Given the description of an element on the screen output the (x, y) to click on. 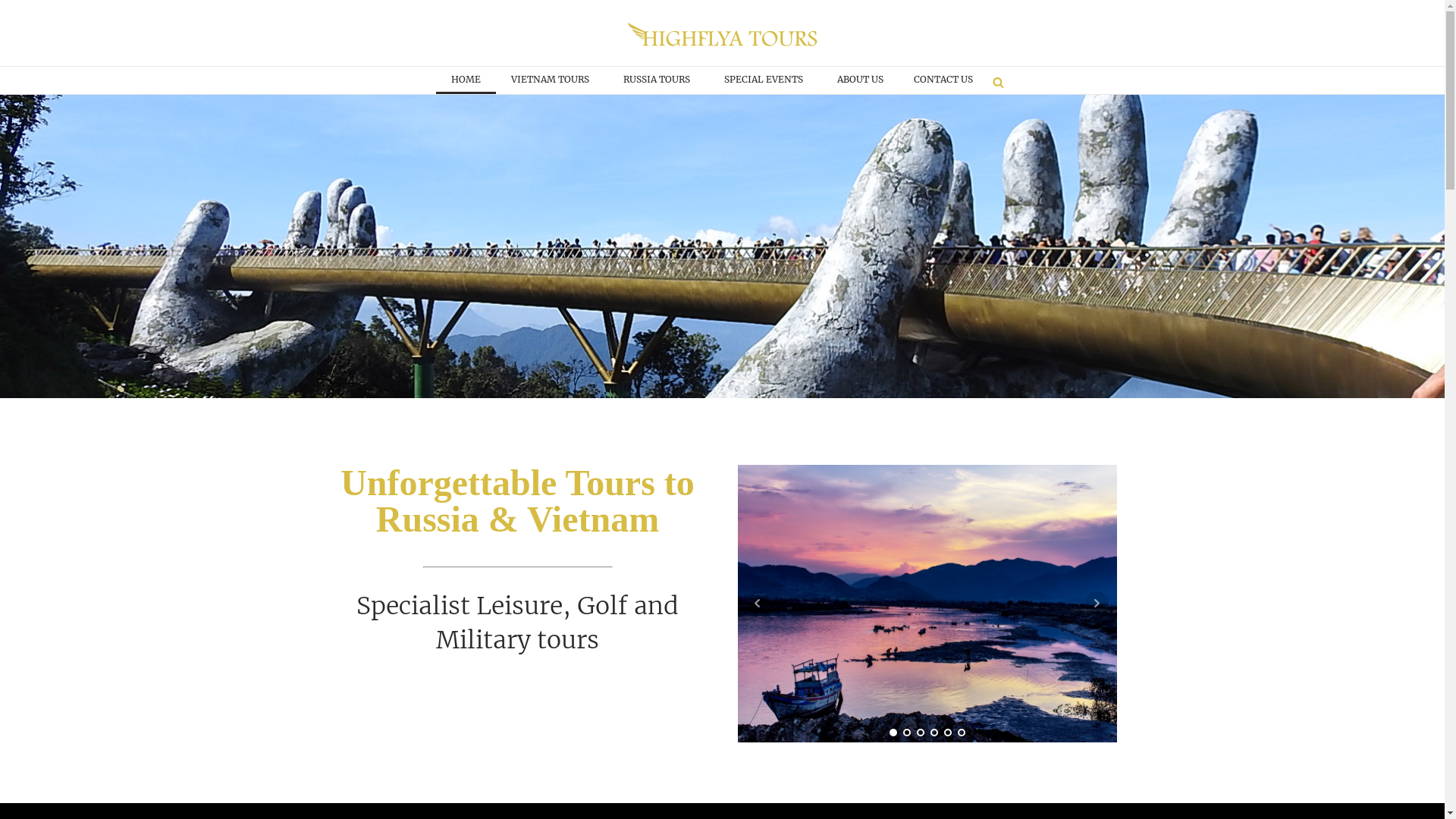
Prev Element type: text (756, 603)
Next Element type: text (1096, 603)
ABOUT US Element type: text (860, 80)
CONTACT US Element type: text (943, 80)
VIETNAM TOURS Element type: text (551, 80)
HOME Element type: text (465, 80)
SPECIAL EVENTS Element type: text (765, 80)
Search Element type: text (25, 9)
RUSSIA TOURS Element type: text (658, 80)
